Given the description of an element on the screen output the (x, y) to click on. 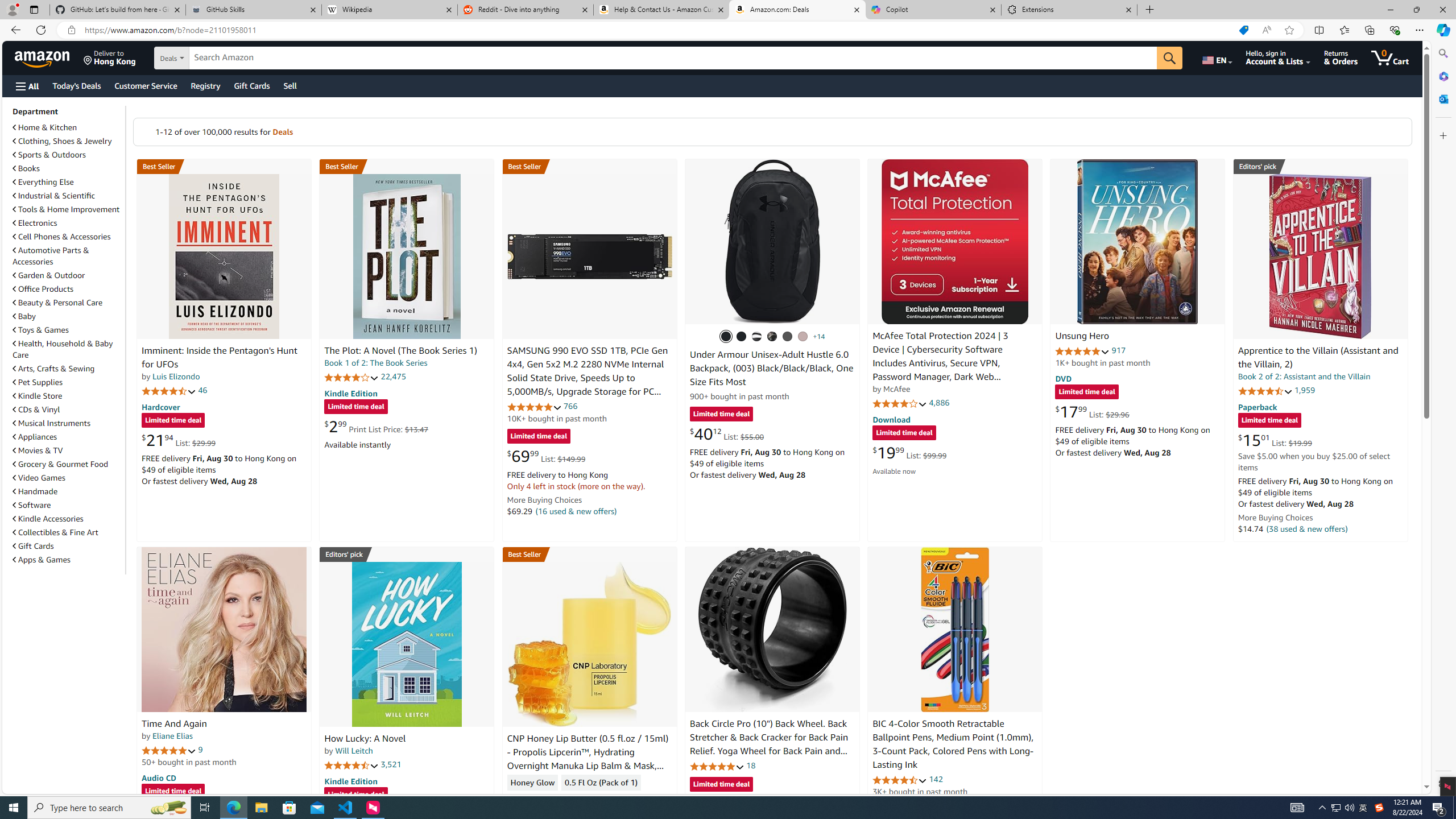
Video Games (39, 477)
Time And Again (224, 628)
Grocery & Gourmet Food (61, 463)
766 (570, 406)
Registry (205, 85)
Hello, sign in Account & Lists (1278, 57)
(002) Black / Black / White (756, 336)
Tools & Home Improvement (66, 208)
(004) Black / Black / Metallic Gold (772, 336)
The Plot: A Novel (The Book Series 1) (400, 351)
Apps & Games (67, 559)
Pet Supplies (67, 382)
Extensions (1068, 9)
